Given the description of an element on the screen output the (x, y) to click on. 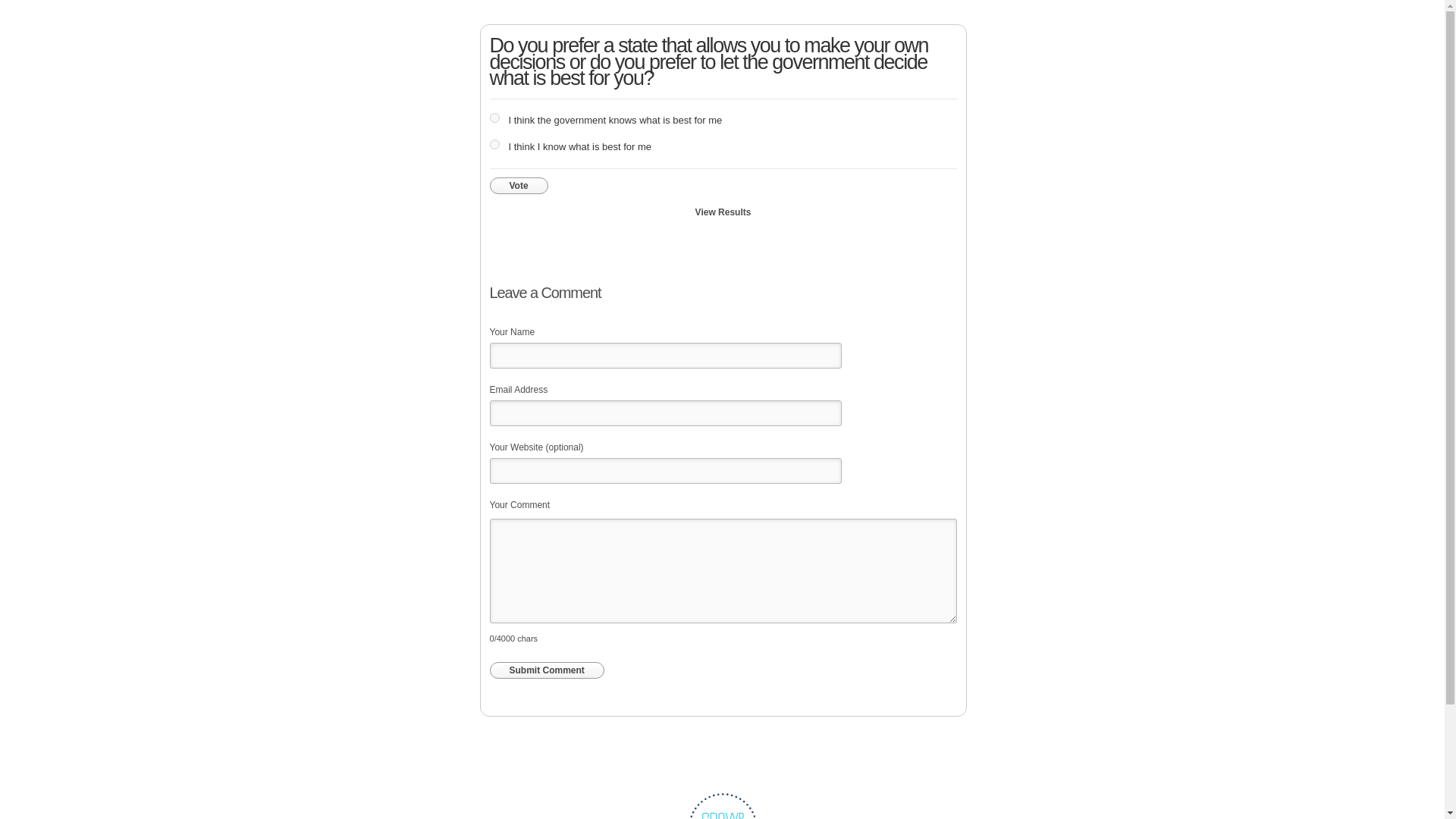
49911021 (494, 117)
49911022 (494, 144)
Submit Comment (546, 669)
View Results (723, 212)
Vote (518, 185)
